Given the description of an element on the screen output the (x, y) to click on. 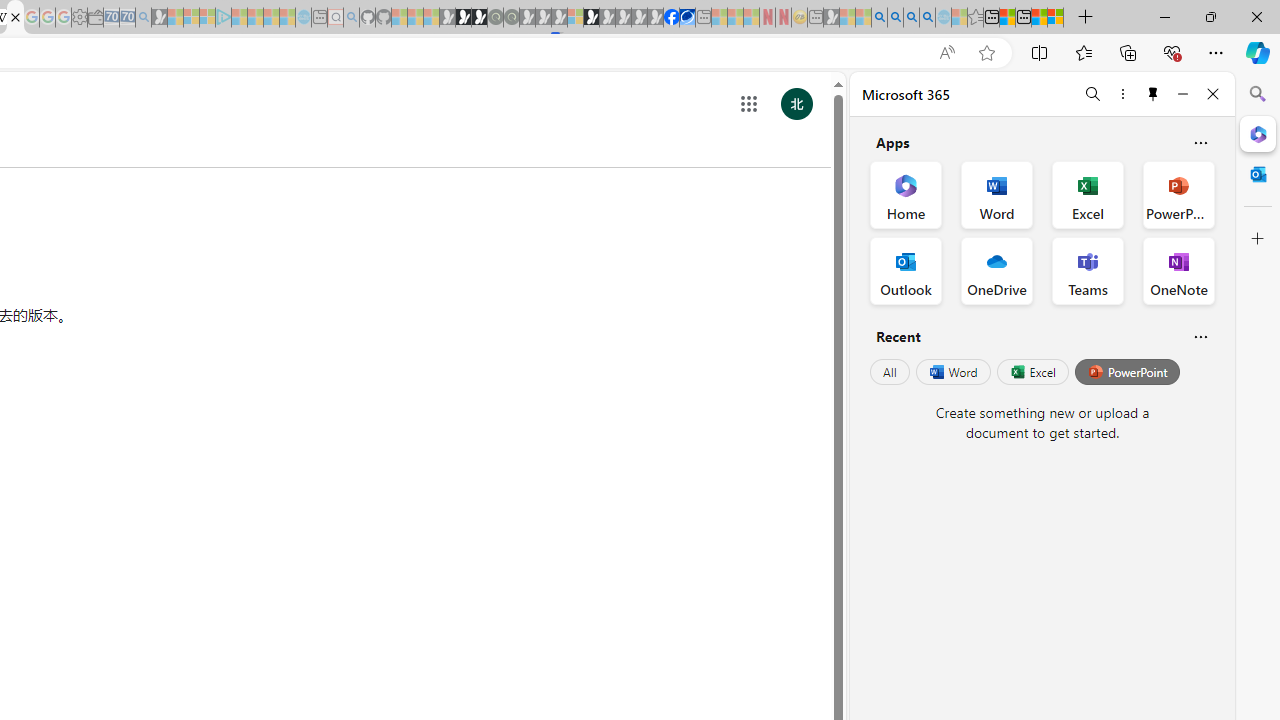
PowerPoint Office App (1178, 194)
Close Customize pane (1258, 239)
Close Microsoft 365 pane (1258, 133)
Unpin side pane (1153, 93)
Class: gb_E (749, 103)
